Given the description of an element on the screen output the (x, y) to click on. 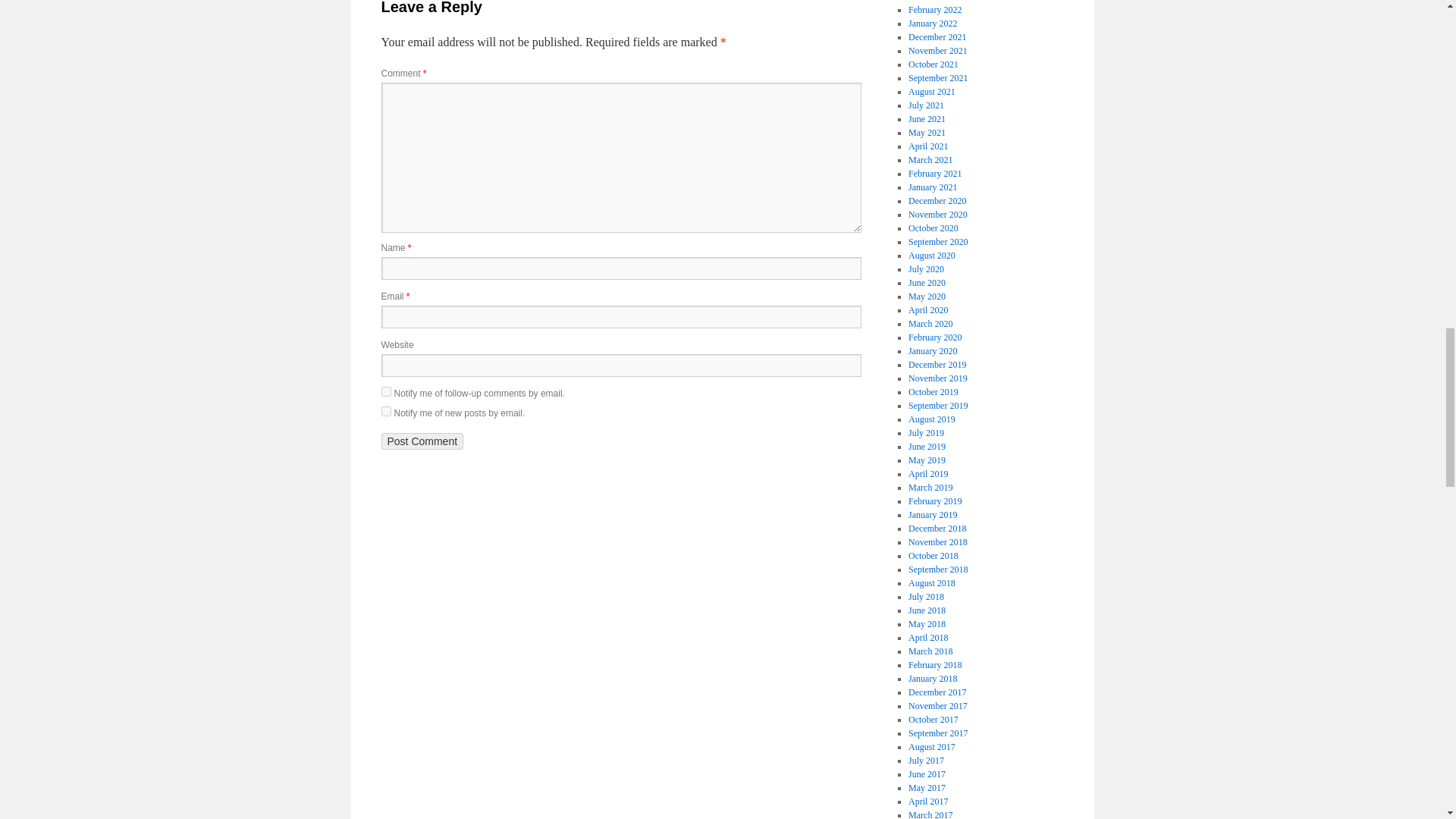
subscribe (385, 411)
Post Comment (421, 441)
Post Comment (421, 441)
subscribe (385, 391)
